Given the description of an element on the screen output the (x, y) to click on. 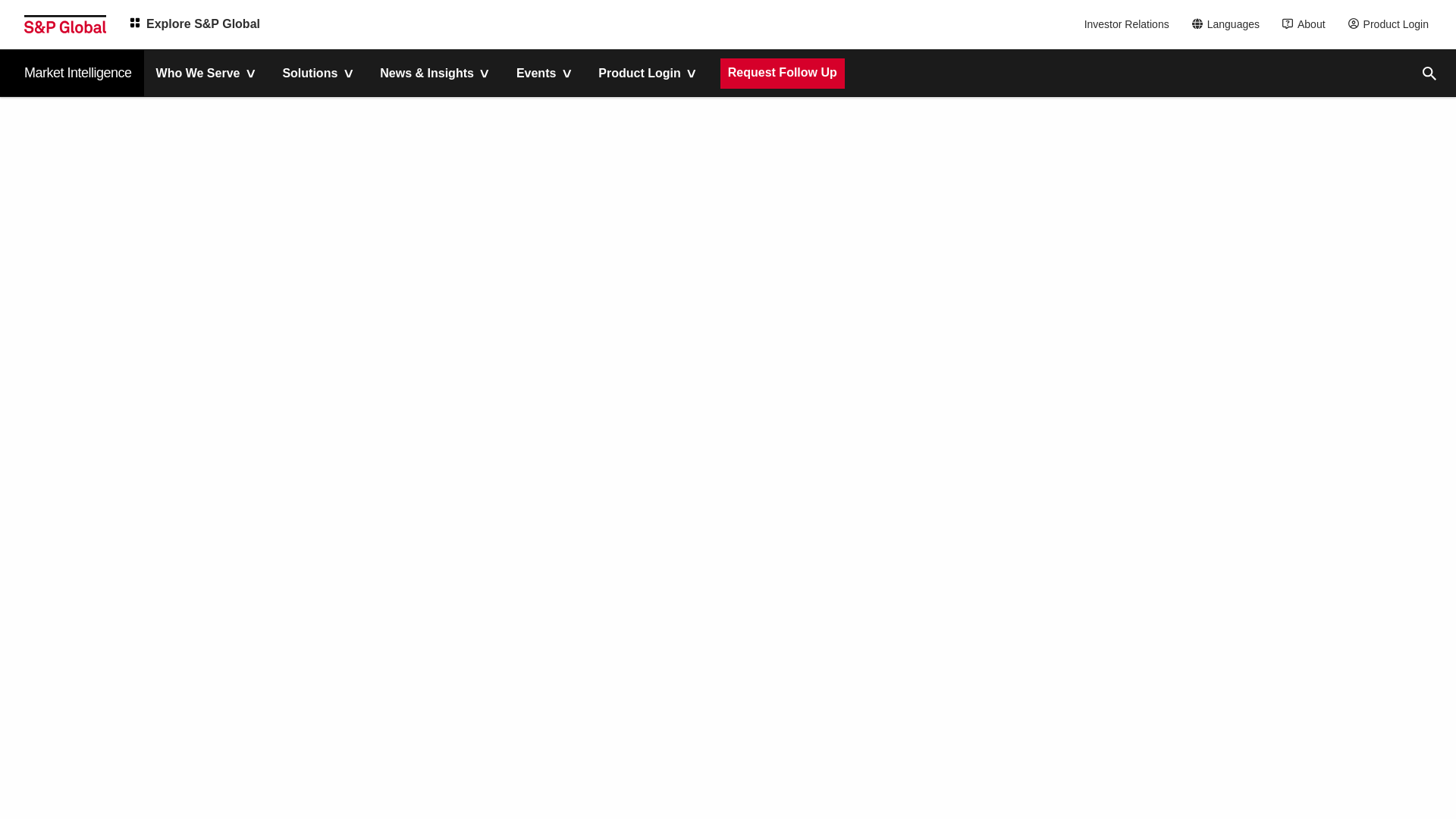
Investor Relations (1129, 24)
Languages (1230, 24)
Product Login (1392, 24)
About (1307, 24)
